Given the description of an element on the screen output the (x, y) to click on. 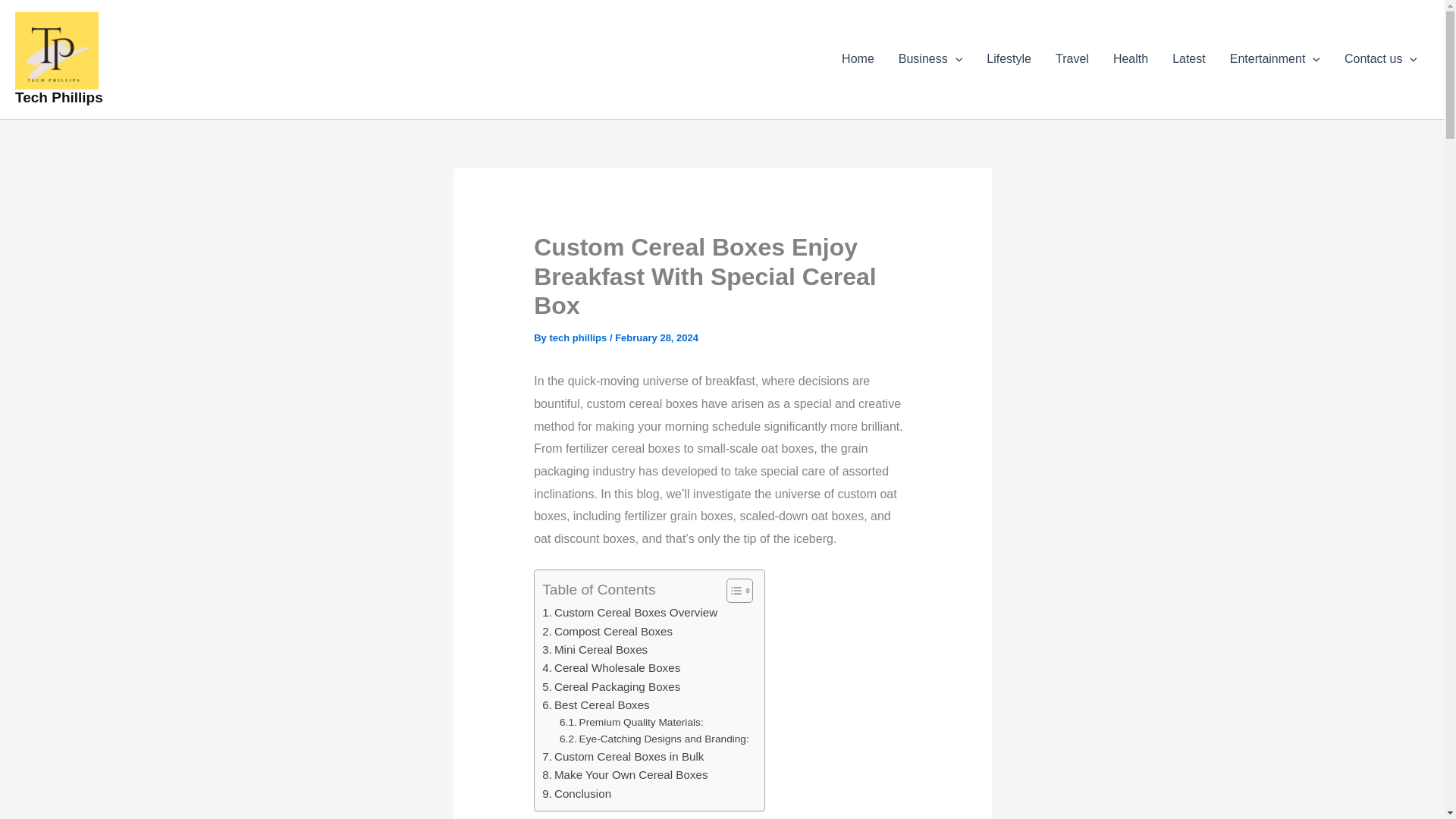
Make Your Own Cereal Boxes (624, 774)
Contact us (1380, 58)
Premium Quality Materials: (631, 722)
Compost Cereal Boxes (606, 631)
Cereal Wholesale Boxes (610, 668)
Compost Cereal Boxes (606, 631)
Health (1130, 58)
Tech Phillips (58, 97)
Custom Cereal Boxes Overview (629, 612)
Travel (1071, 58)
